Given the description of an element on the screen output the (x, y) to click on. 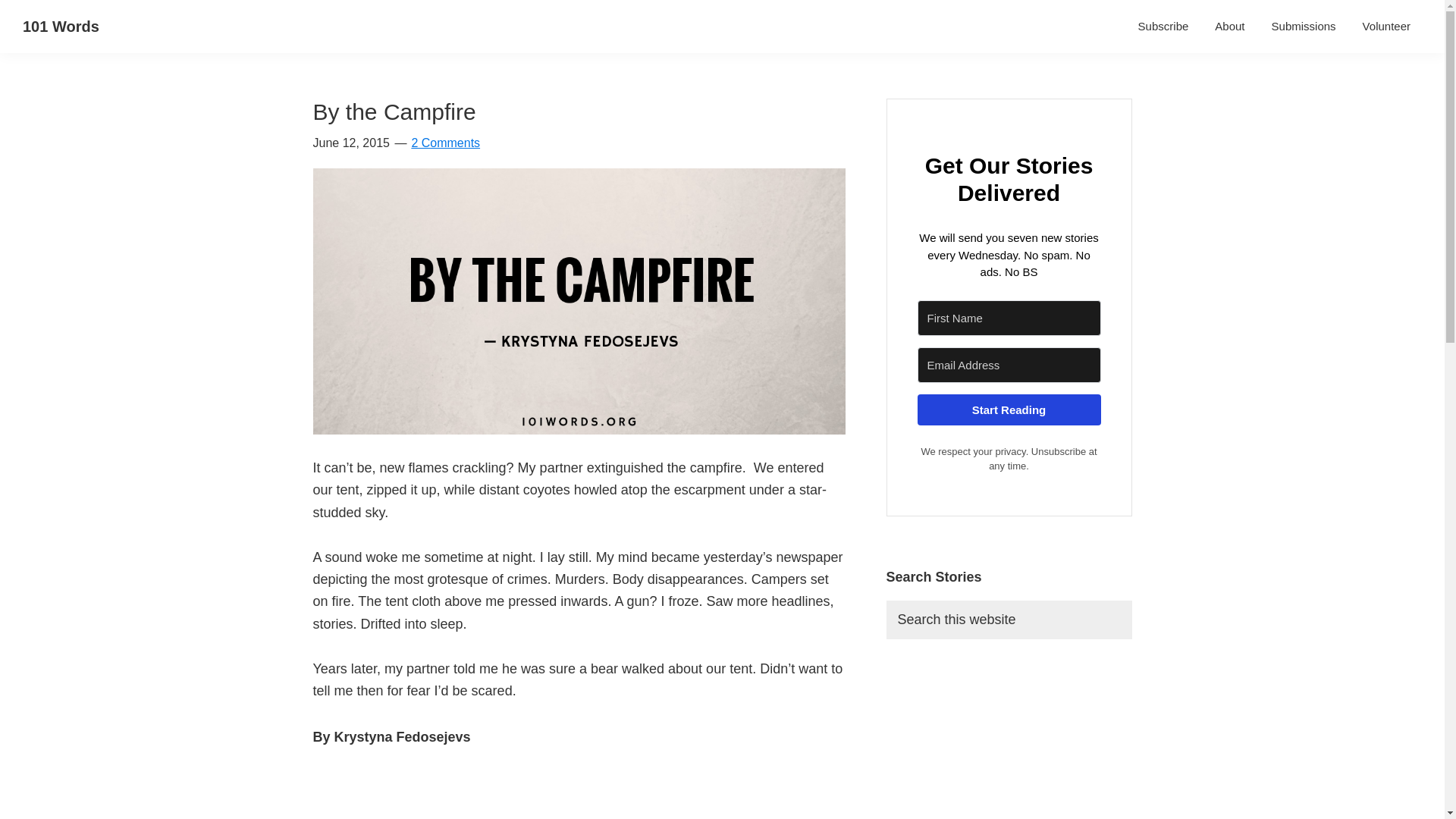
Subscribe (1162, 25)
About (1229, 25)
Subscribe (1162, 25)
Start Reading (1008, 409)
2 Comments (445, 142)
Submissions (1304, 25)
Volunteer (1386, 25)
101 Words (61, 26)
